Given the description of an element on the screen output the (x, y) to click on. 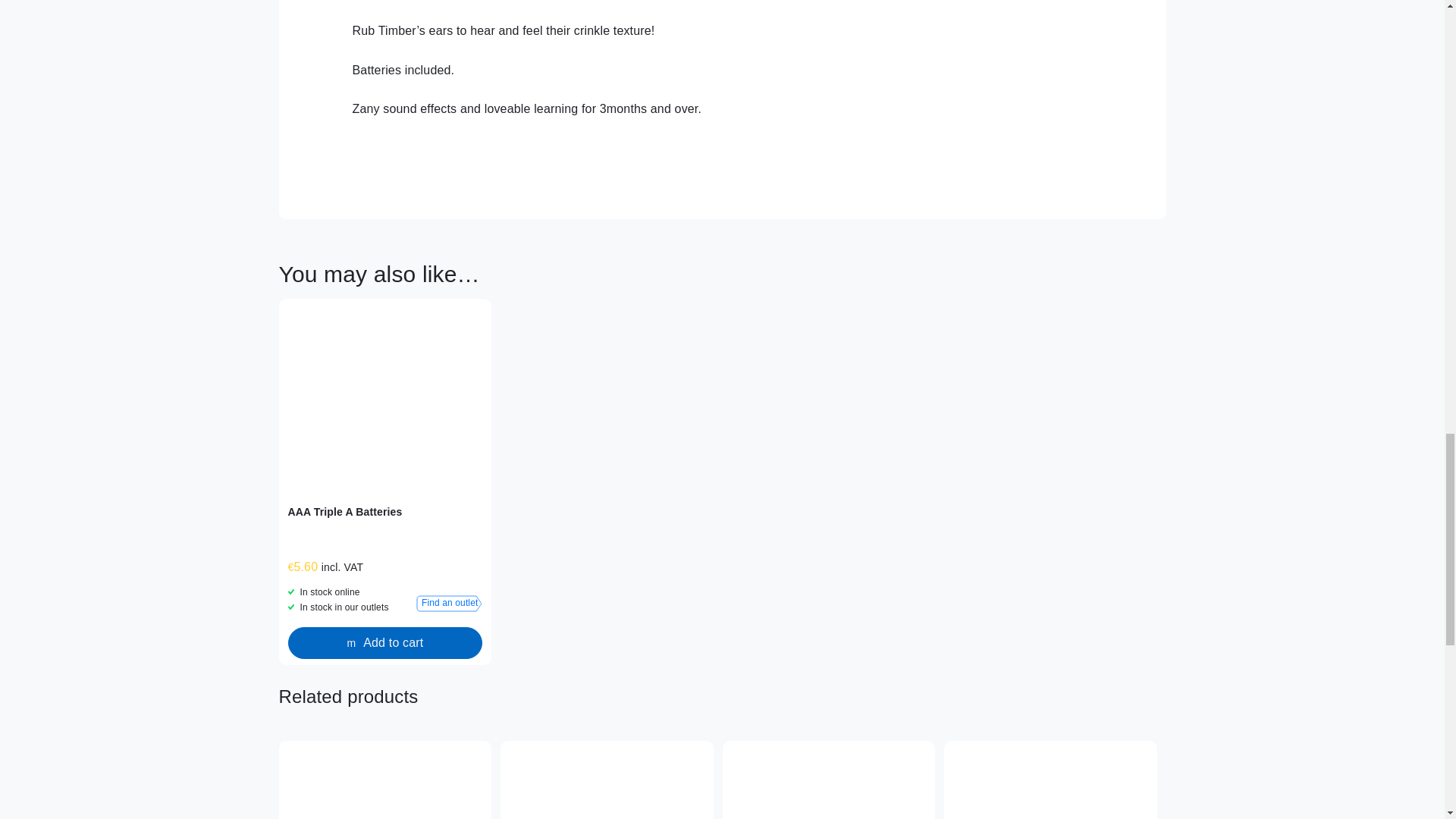
Find an outlet (448, 603)
